Given the description of an element on the screen output the (x, y) to click on. 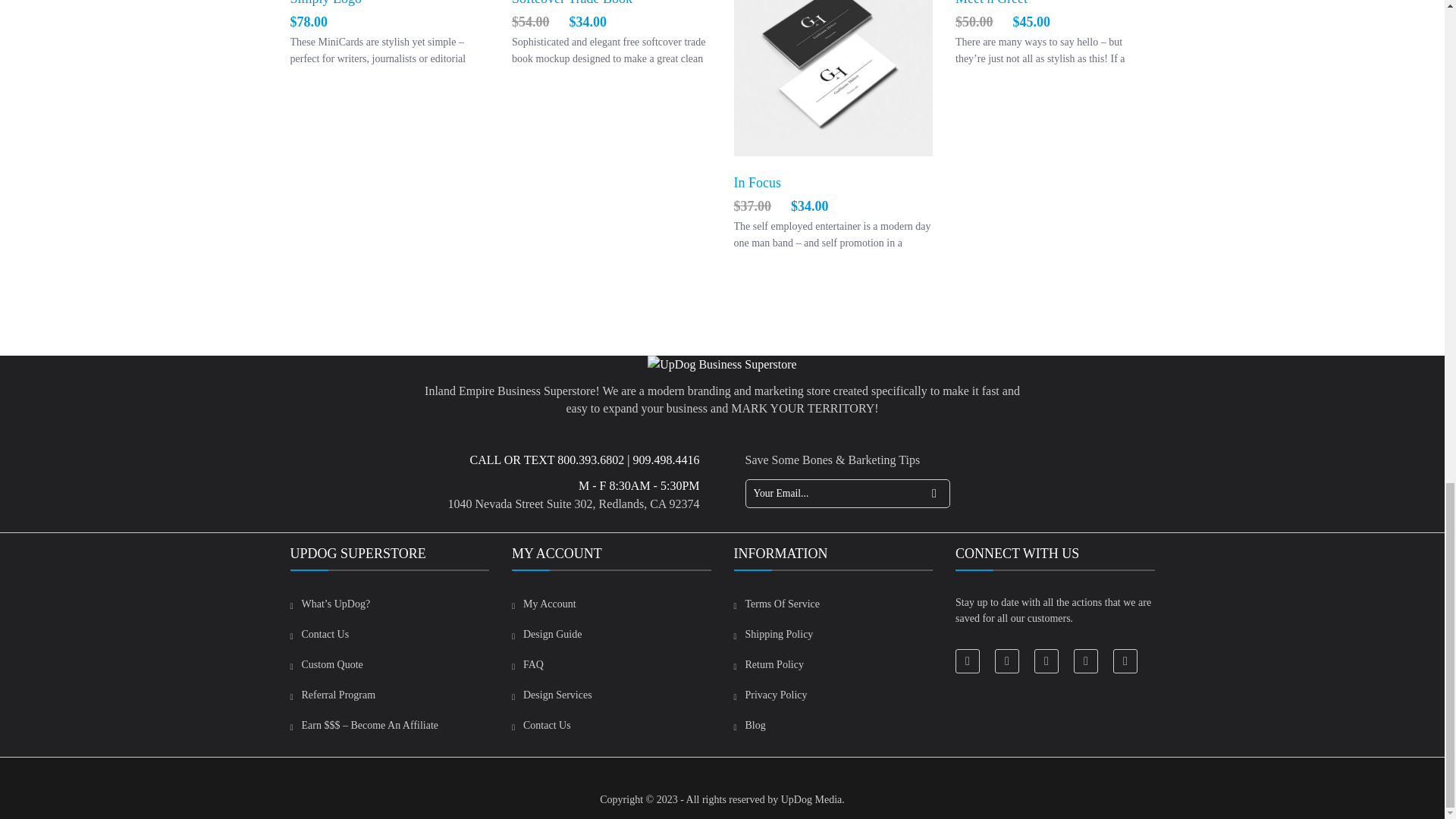
Subscribe (934, 493)
